Given the description of an element on the screen output the (x, y) to click on. 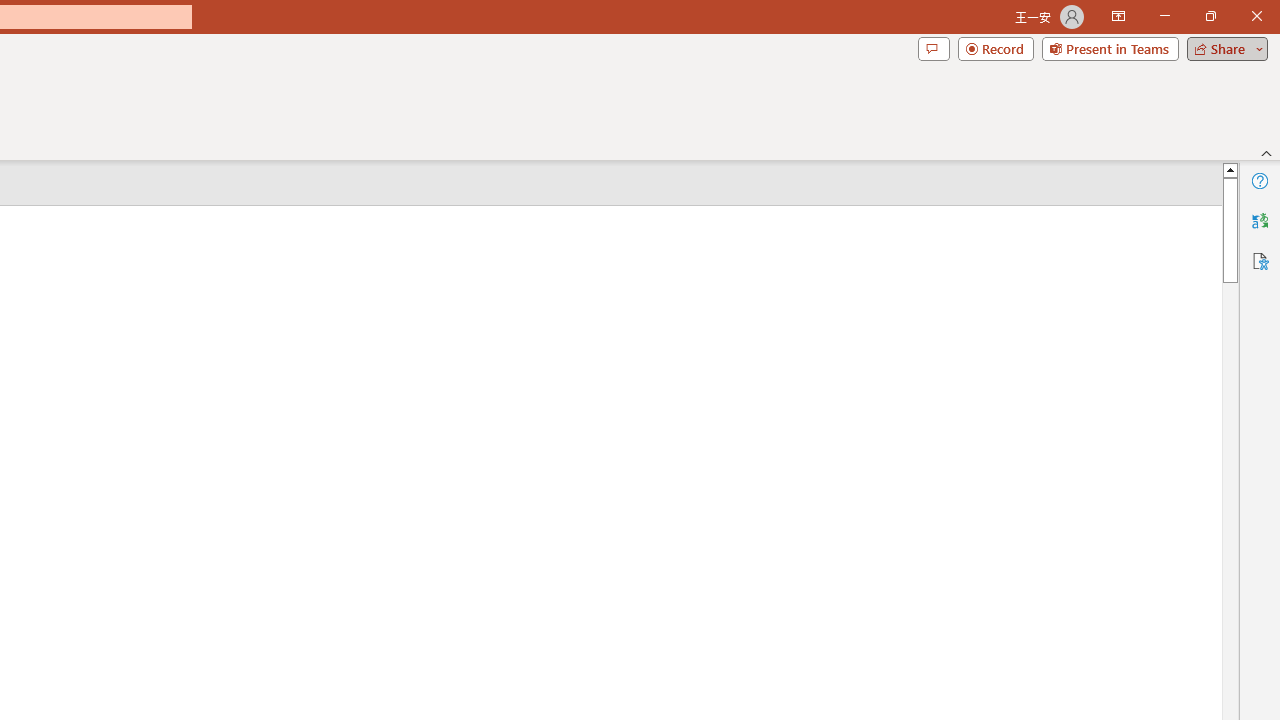
Line up (1230, 169)
Accessibility (1260, 260)
Translator (1260, 220)
